Given the description of an element on the screen output the (x, y) to click on. 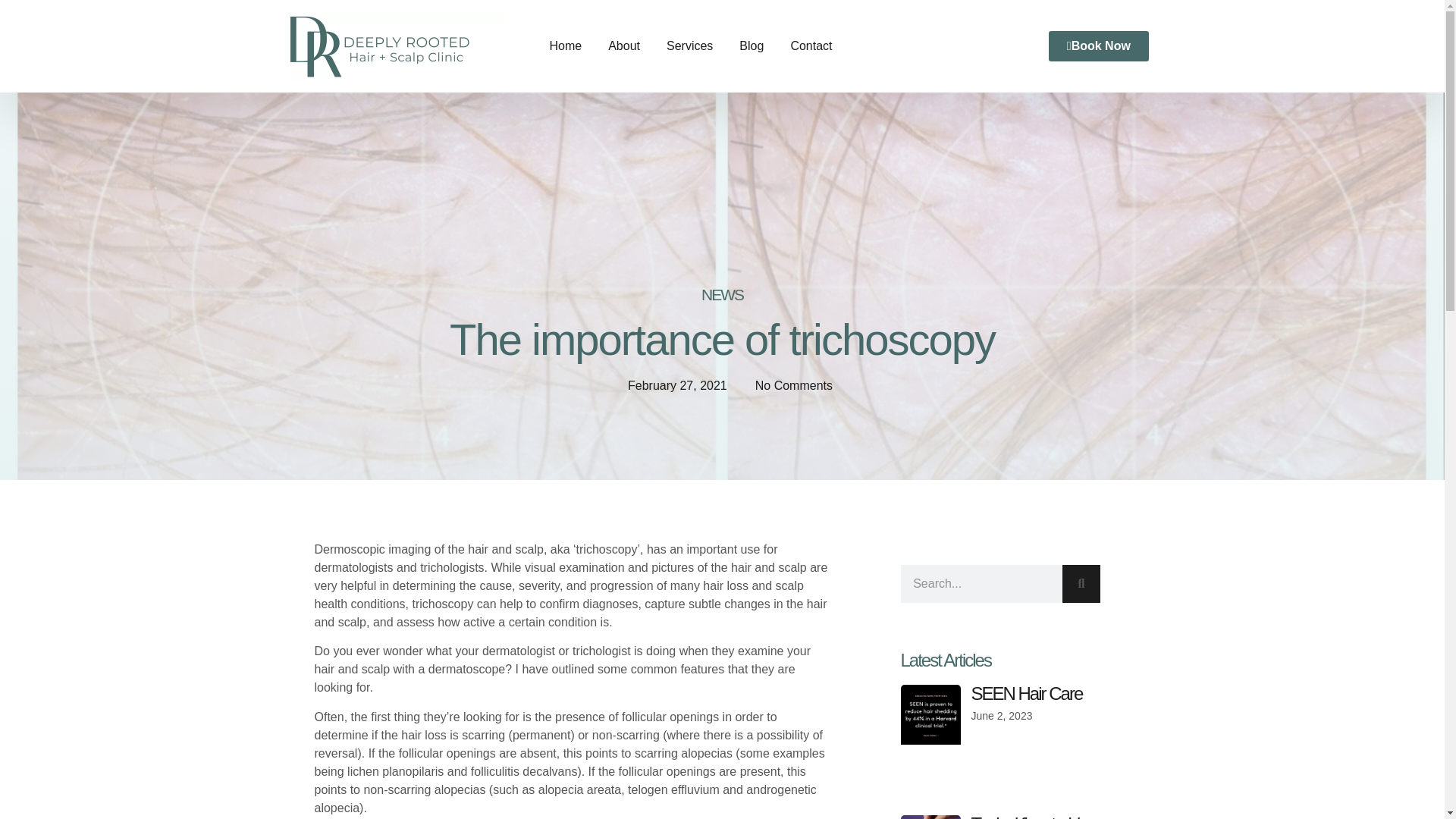
Topical finasteride (1029, 816)
Services (689, 46)
Contact (810, 46)
Book Now (1098, 46)
No Comments (785, 385)
NEWS (721, 293)
February 27, 2021 (668, 386)
SEEN Hair Care (1027, 693)
